Given the description of an element on the screen output the (x, y) to click on. 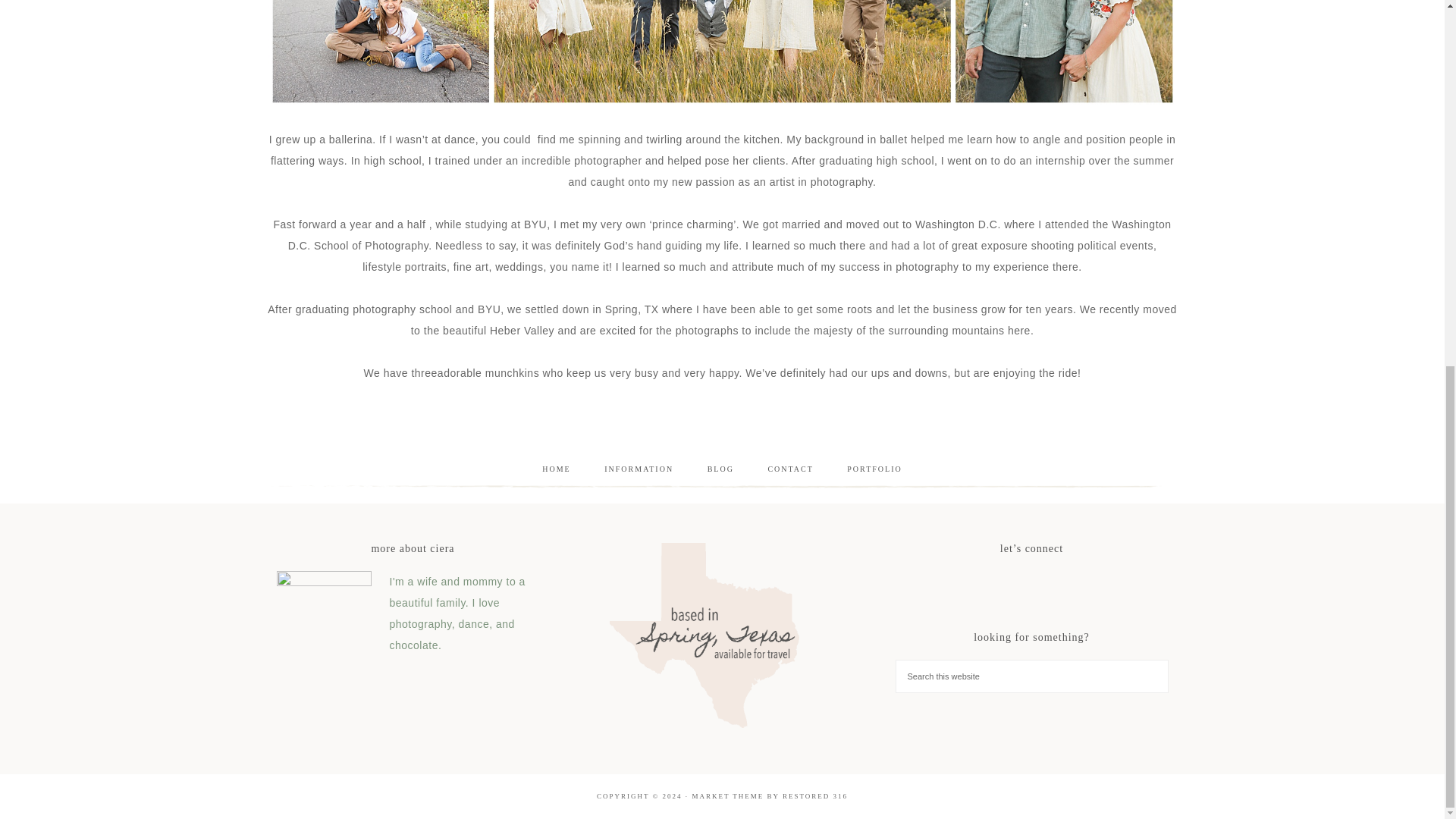
HOME (556, 469)
BLOG (721, 469)
RESTORED 316 (815, 796)
CONTACT (790, 469)
MARKET THEME (726, 796)
PORTFOLIO (874, 469)
INFORMATION (638, 469)
